Given the description of an element on the screen output the (x, y) to click on. 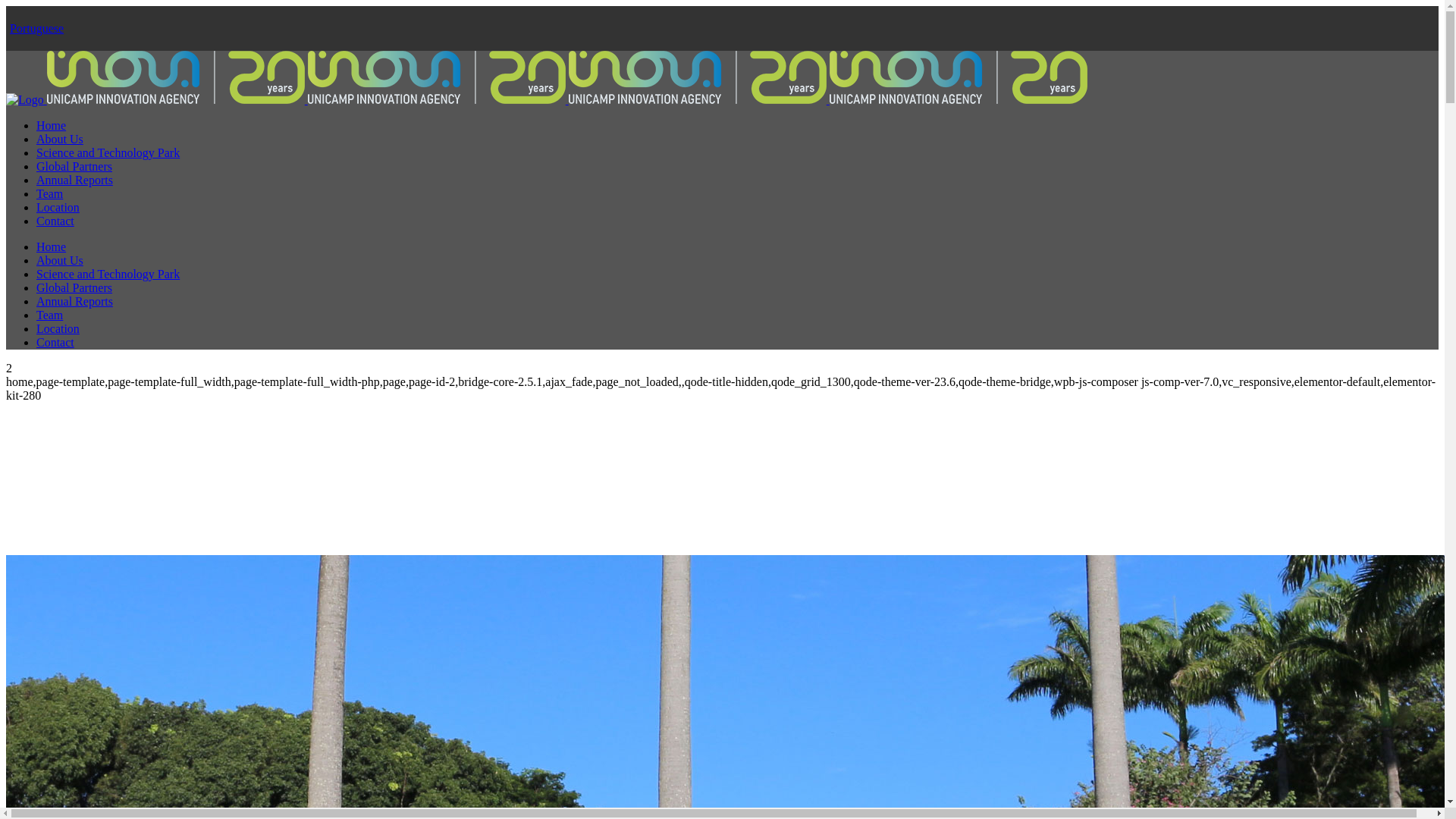
About Us Element type: text (59, 260)
Annual Reports Element type: text (74, 179)
Portuguese Element type: text (36, 27)
About Us Element type: text (59, 138)
Team Element type: text (49, 193)
Home Element type: text (50, 125)
Contact Element type: text (55, 341)
Global Partners Element type: text (74, 166)
Science and Technology Park Element type: text (107, 152)
Team Element type: text (49, 314)
Home Element type: text (50, 246)
Global Partners Element type: text (74, 287)
Annual Reports Element type: text (74, 300)
Science and Technology Park Element type: text (107, 273)
Location Element type: text (57, 206)
Location Element type: text (57, 328)
Contact Element type: text (55, 220)
